Given the description of an element on the screen output the (x, y) to click on. 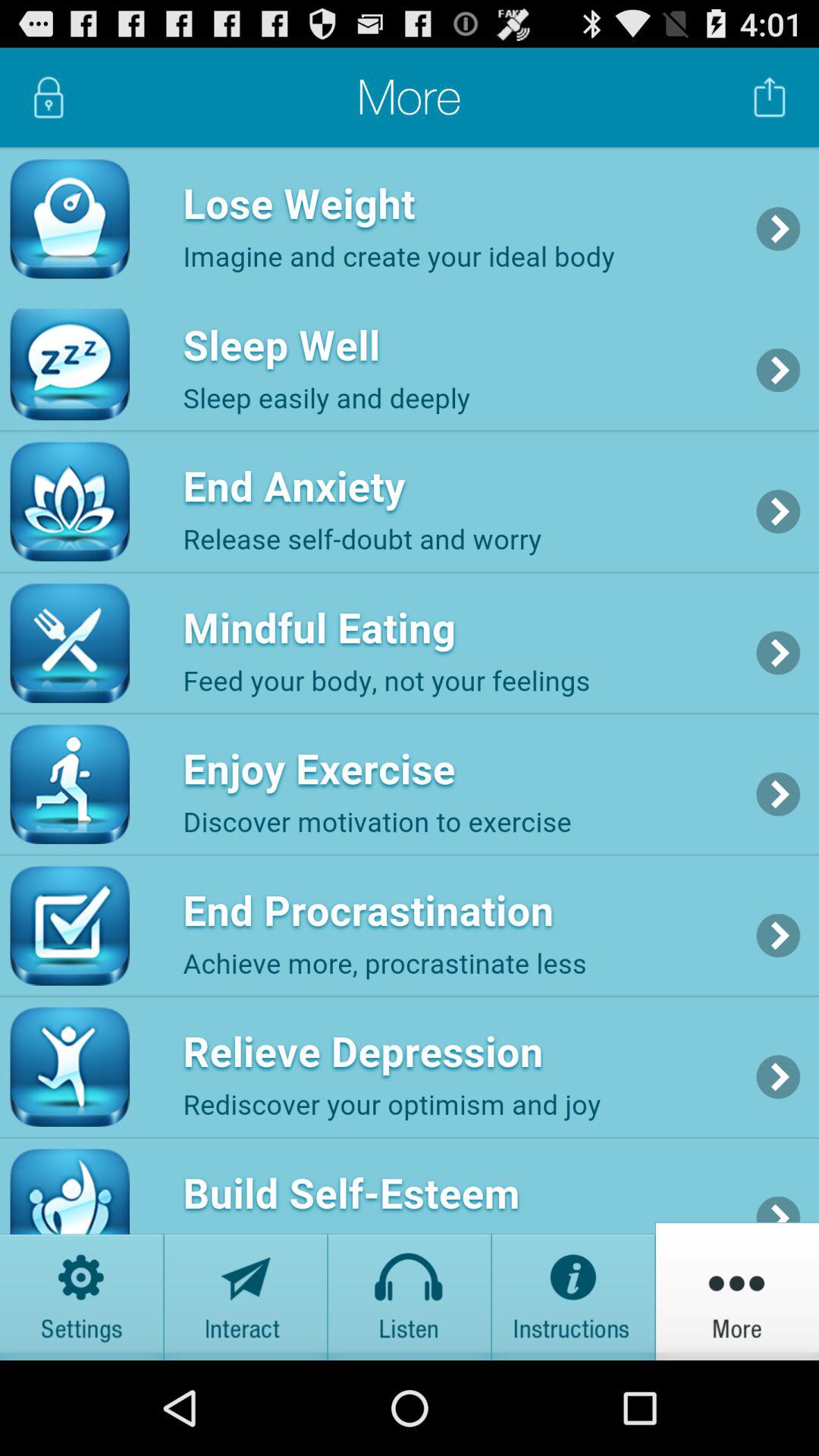
select interact option (245, 1290)
